Given the description of an element on the screen output the (x, y) to click on. 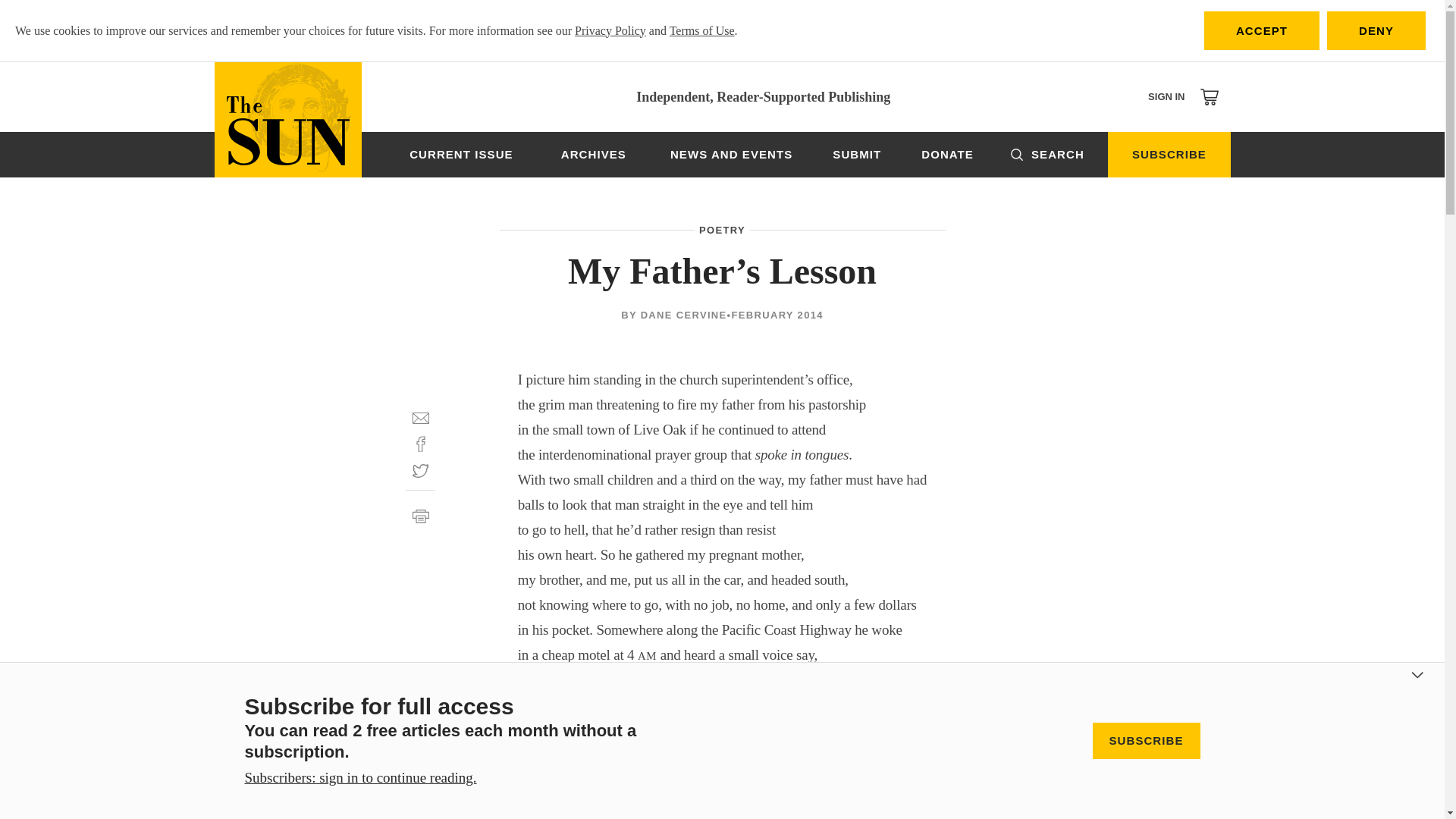
DENY (1375, 30)
ARCHIVES (593, 154)
Terms of Use (702, 30)
CURRENT ISSUE (461, 154)
ACCEPT (1261, 30)
Privacy Policy (610, 30)
SIGN IN (1166, 96)
